Given the description of an element on the screen output the (x, y) to click on. 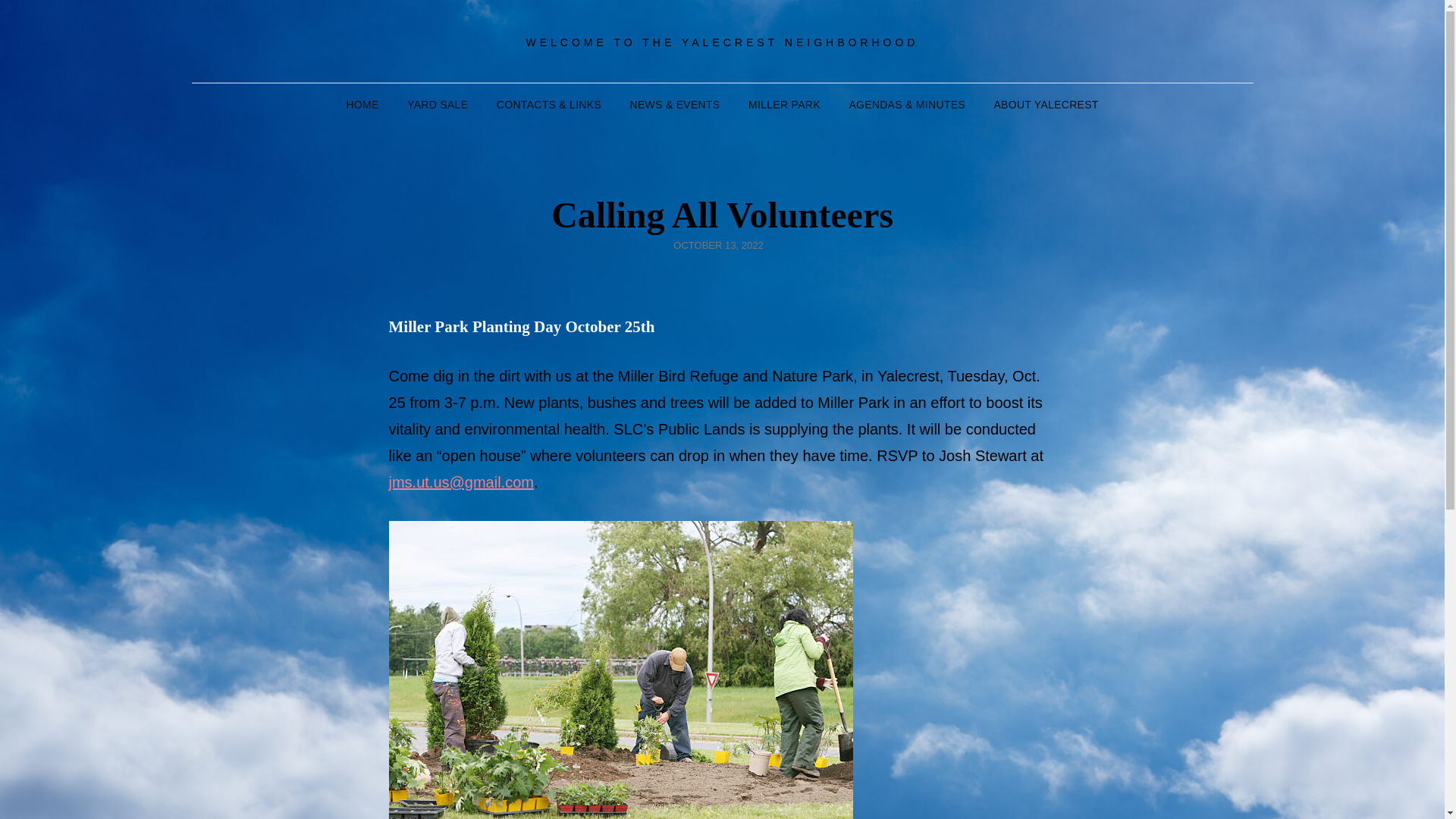
OCTOBER 13, 2022 (717, 244)
MILLER PARK (784, 104)
HOME (361, 104)
ABOUT YALECREST (1045, 104)
YARD SALE (437, 104)
